Given the description of an element on the screen output the (x, y) to click on. 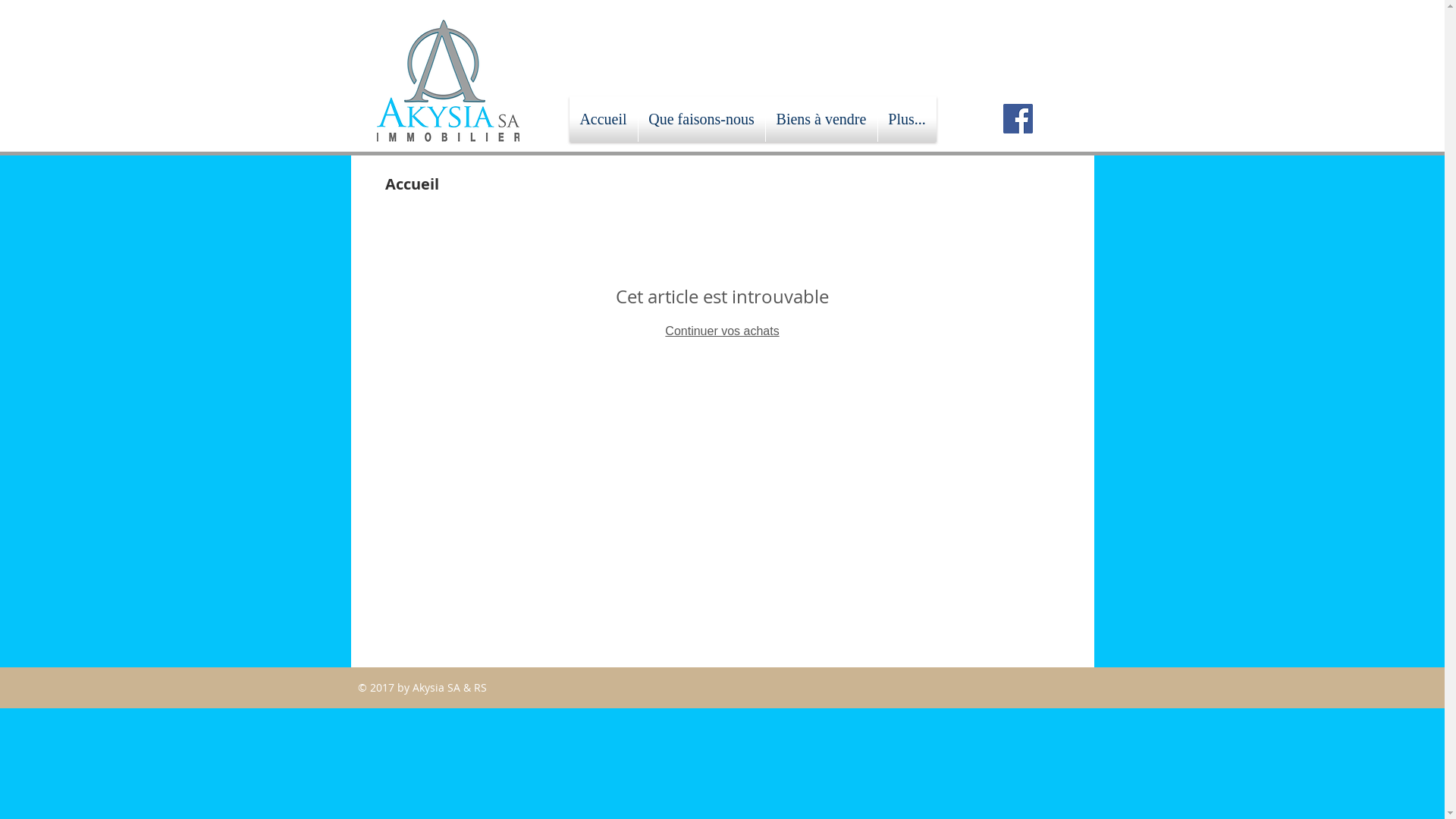
Que faisons-nous Element type: text (701, 118)
Accueil Element type: text (412, 183)
Accueil Element type: text (602, 118)
Continuer vos achats Element type: text (721, 330)
